Given the description of an element on the screen output the (x, y) to click on. 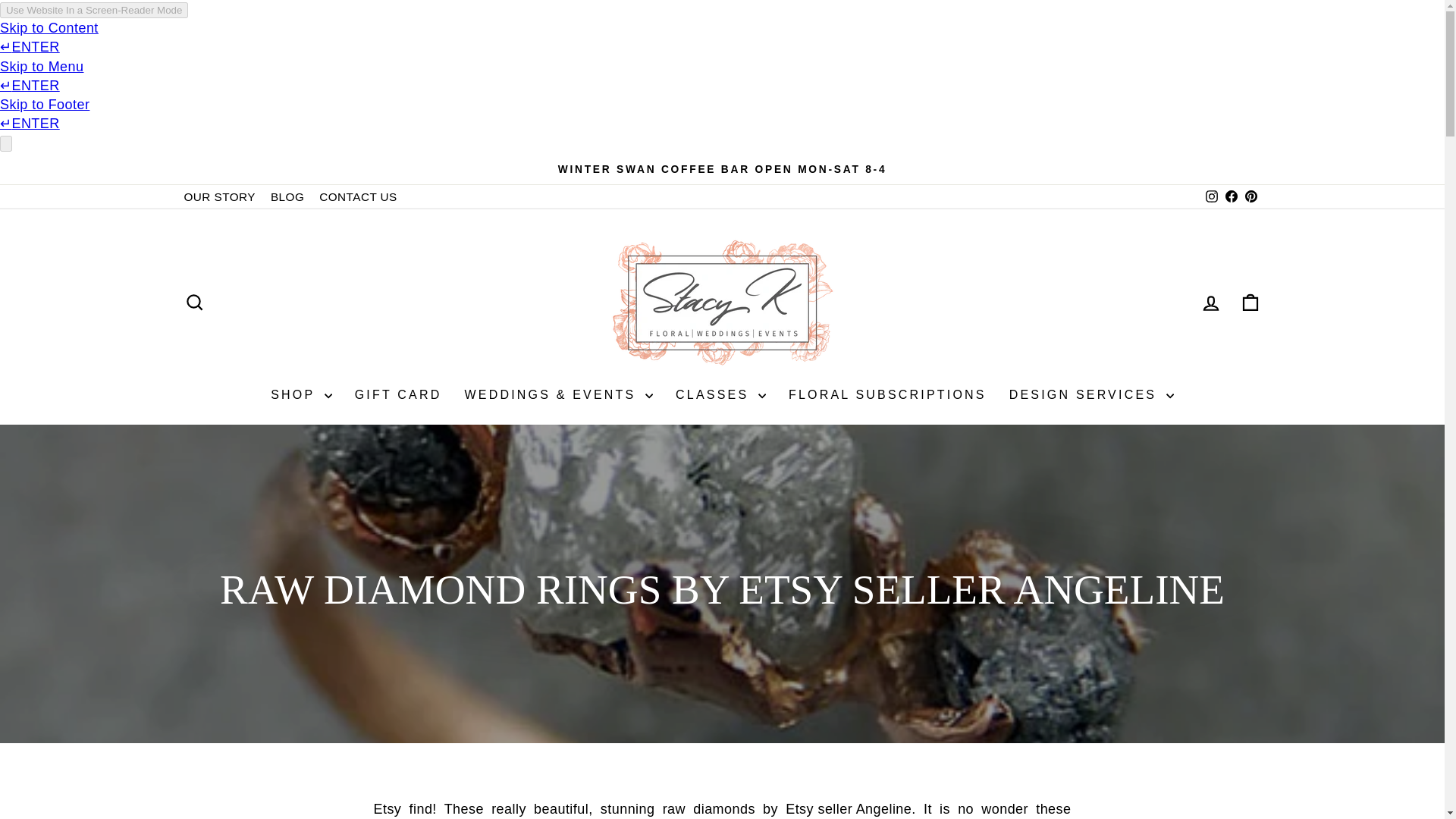
ICON-BAG-MINIMAL (1249, 301)
instagram (1211, 196)
By Angeline (848, 809)
Etsy (386, 809)
ICON-SEARCH (194, 301)
ACCOUNT (1210, 302)
